Given the description of an element on the screen output the (x, y) to click on. 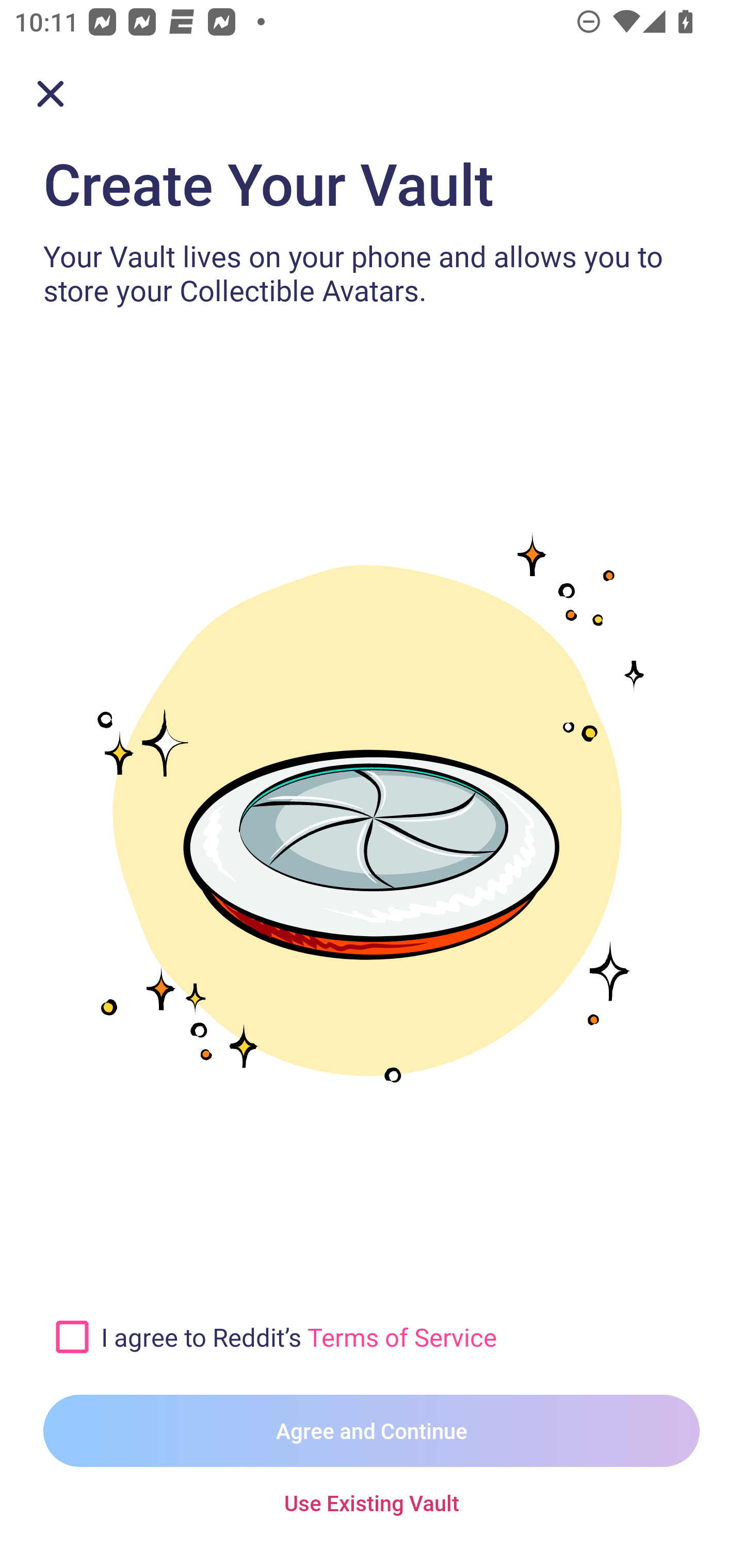
Back (50, 93)
I agree to Reddit’s Terms of Service (400, 1336)
Agree and Continue (371, 1430)
Use Existing Vault (371, 1503)
